Given the description of an element on the screen output the (x, y) to click on. 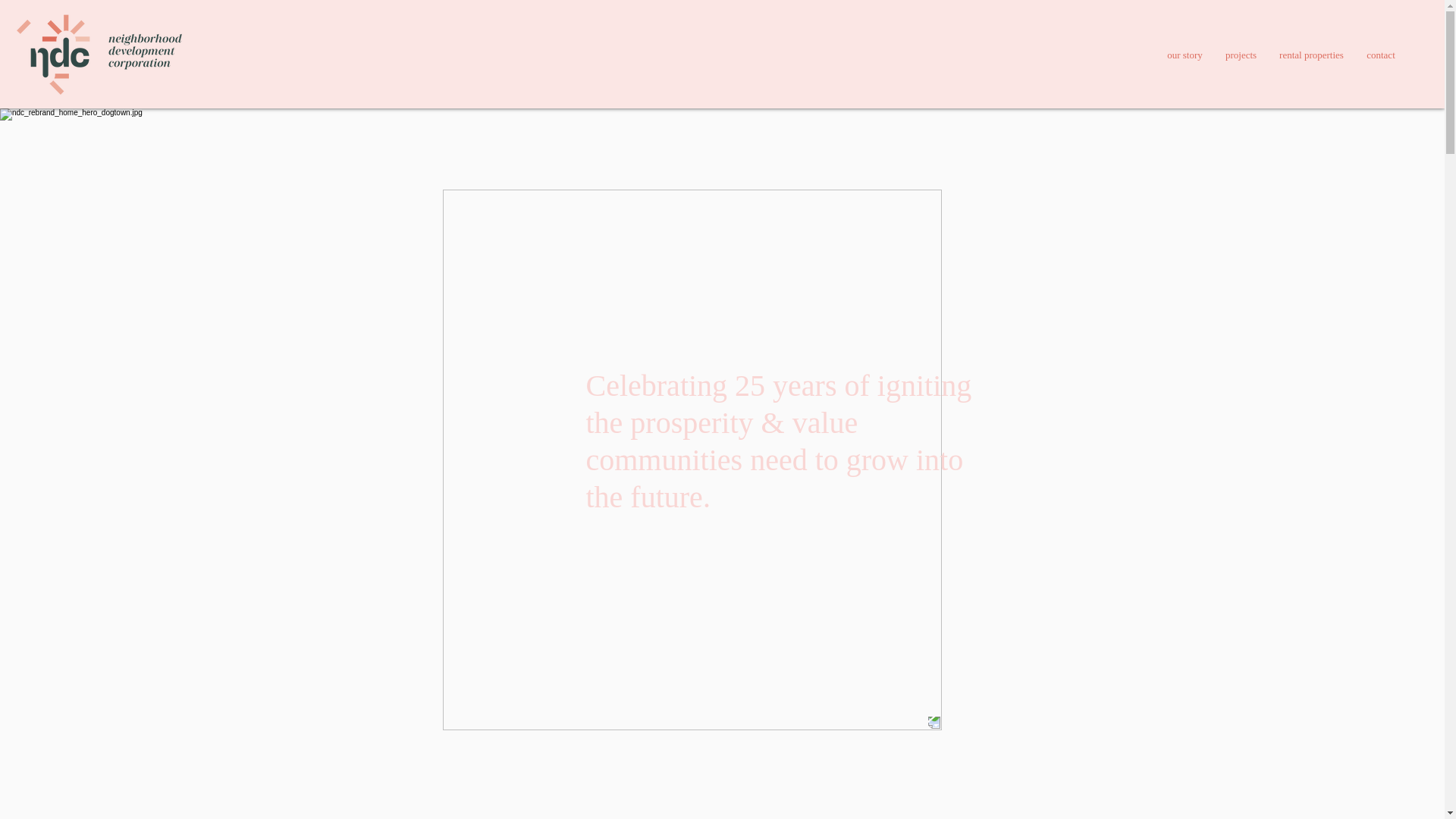
contact (1380, 54)
projects (1241, 54)
rental properties (1311, 54)
our story (1185, 54)
